Given the description of an element on the screen output the (x, y) to click on. 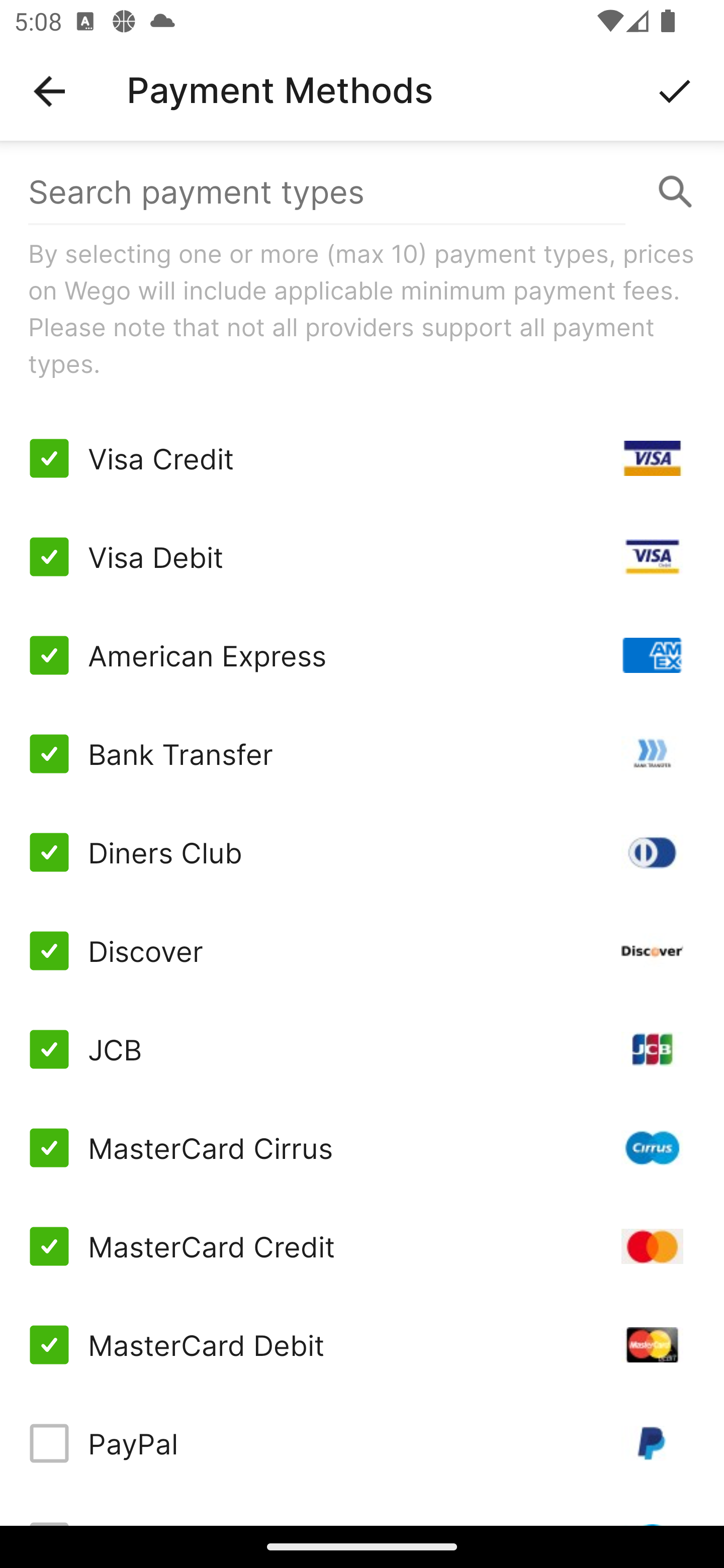
Search payment types  (361, 191)
Visa Credit (362, 458)
Visa Debit (362, 557)
American Express (362, 655)
Bank Transfer (362, 753)
Diners Club (362, 851)
Discover (362, 950)
JCB (362, 1049)
MasterCard Cirrus (362, 1147)
MasterCard Credit (362, 1245)
MasterCard Debit (362, 1344)
PayPal (362, 1442)
